Given the description of an element on the screen output the (x, y) to click on. 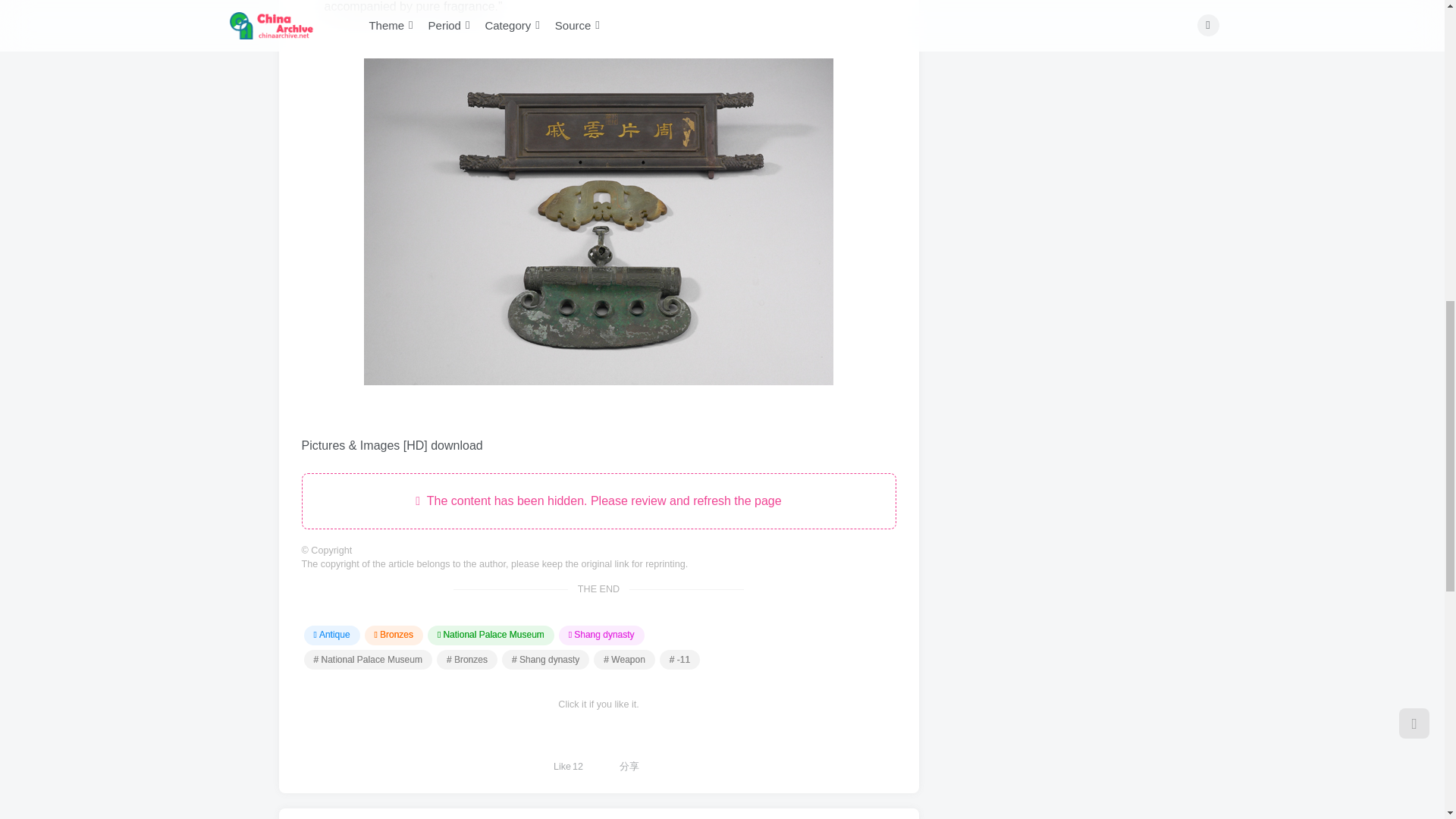
View more articles on this label (679, 659)
View more articles on this label (624, 659)
View more articles on this label (466, 659)
View more articles on this label (545, 659)
View more articles on this label (366, 659)
